Given the description of an element on the screen output the (x, y) to click on. 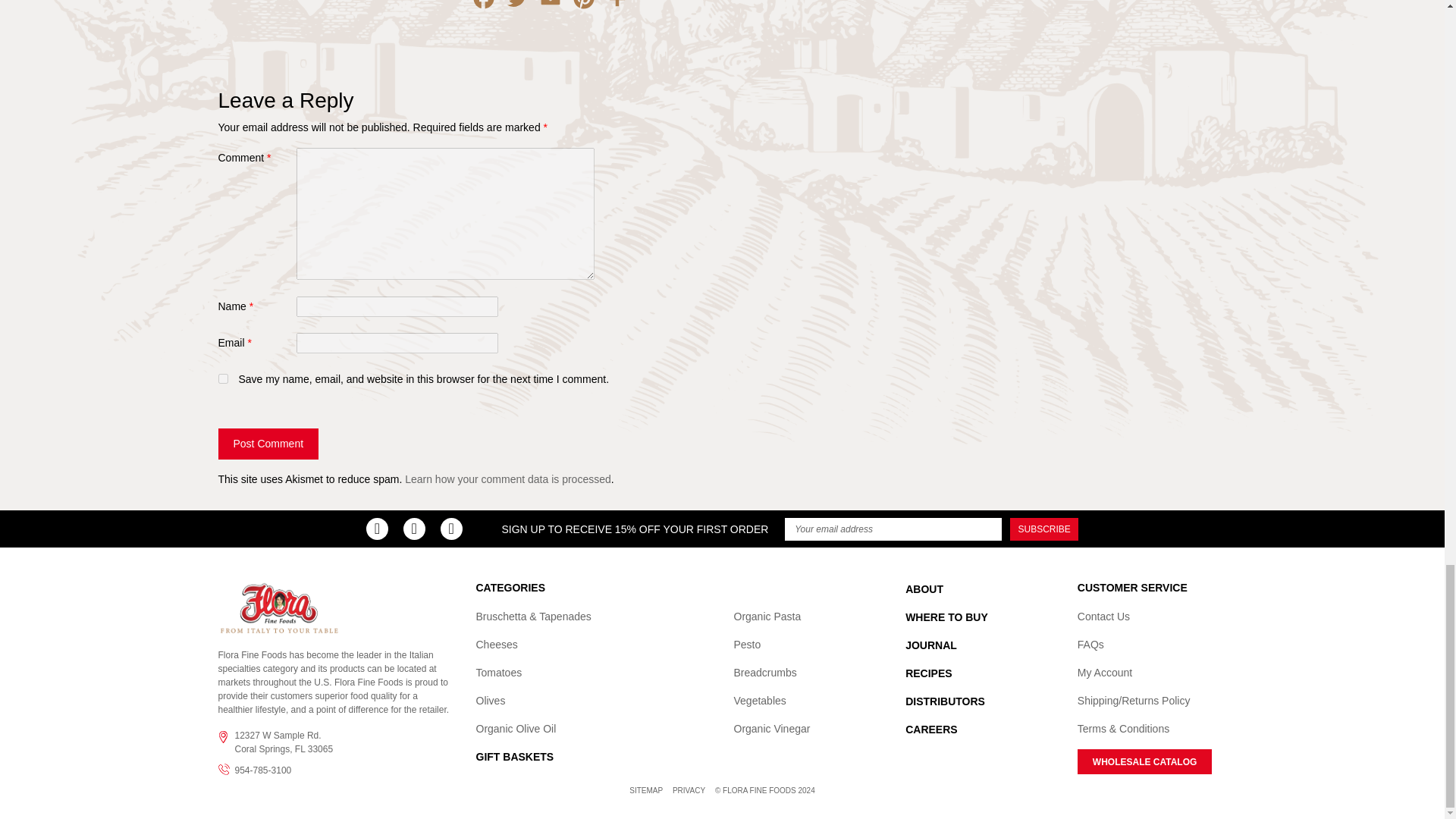
Flora Fine Foods (278, 607)
Facebook (483, 11)
VIEW CATALOG (1144, 761)
yes (223, 378)
Twitter (517, 11)
Subscribe (1044, 528)
Email (550, 11)
Post Comment (268, 443)
Pinterest (583, 11)
